Given the description of an element on the screen output the (x, y) to click on. 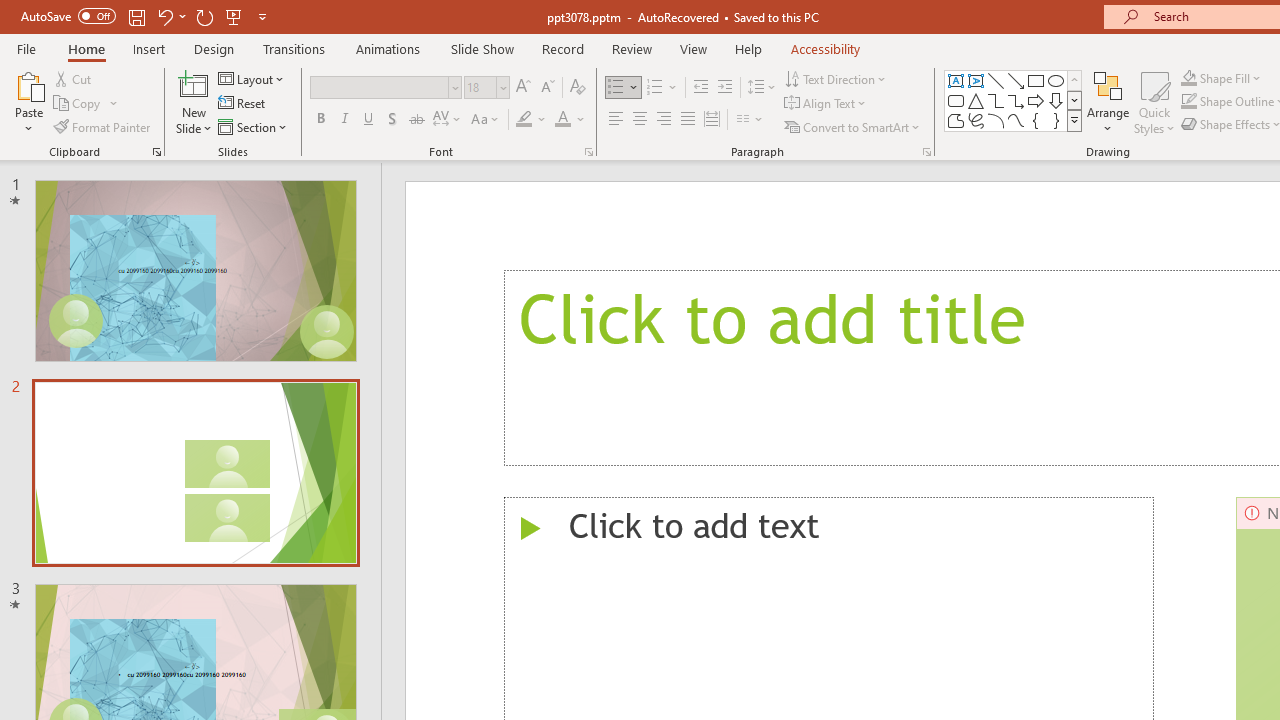
Align Left (616, 119)
Layout (252, 78)
Text Highlight Color (531, 119)
Curve (1016, 120)
Line (995, 80)
Align Text (826, 103)
Connector: Elbow (995, 100)
Align Right (663, 119)
Arrow: Right (1035, 100)
